Given the description of an element on the screen output the (x, y) to click on. 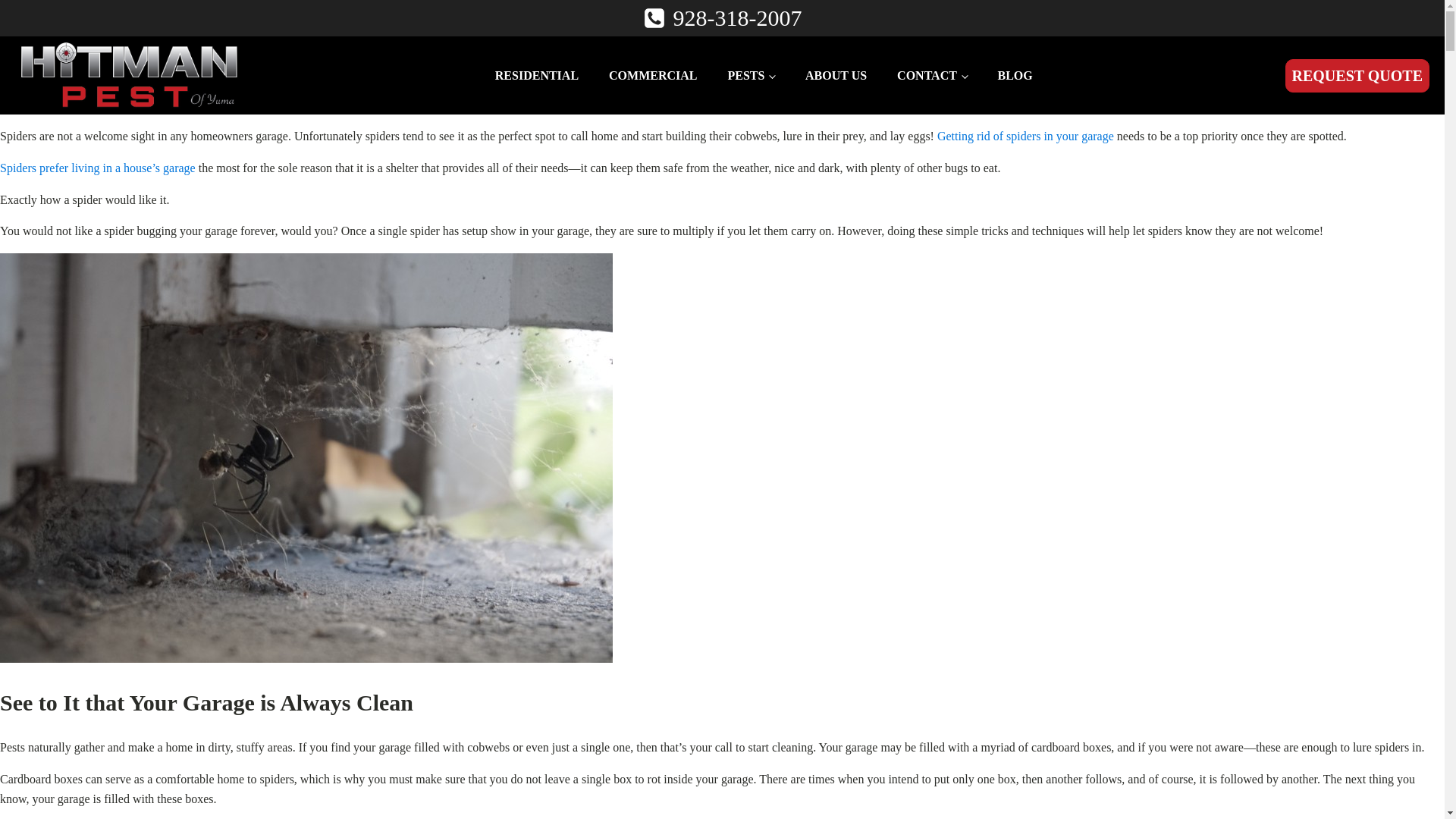
PESTS (751, 75)
928-318-2007 (737, 18)
CONTACT (931, 75)
BLOG (1015, 75)
COMMERCIAL (652, 75)
ABOUT US (836, 75)
RESIDENTIAL (537, 75)
Getting rid of spiders in your garage (1025, 135)
REQUEST QUOTE (1357, 75)
